Given the description of an element on the screen output the (x, y) to click on. 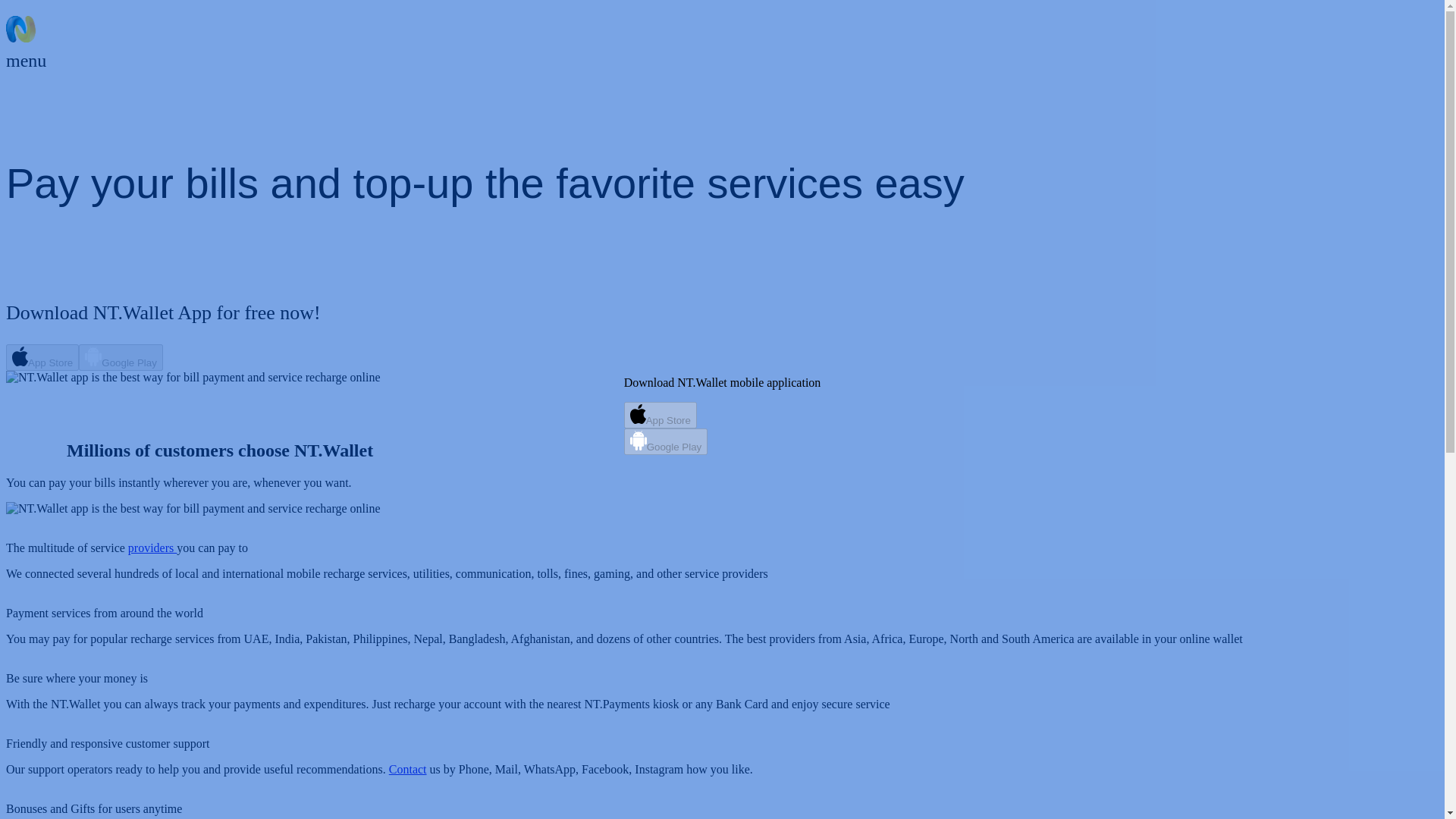
News (192, 104)
App Store (722, 415)
Contacts (339, 104)
App Store (41, 357)
providers (152, 547)
Google Play (120, 357)
App Store (660, 415)
Promotions (140, 104)
Google Play (722, 441)
Download (27, 104)
